Given the description of an element on the screen output the (x, y) to click on. 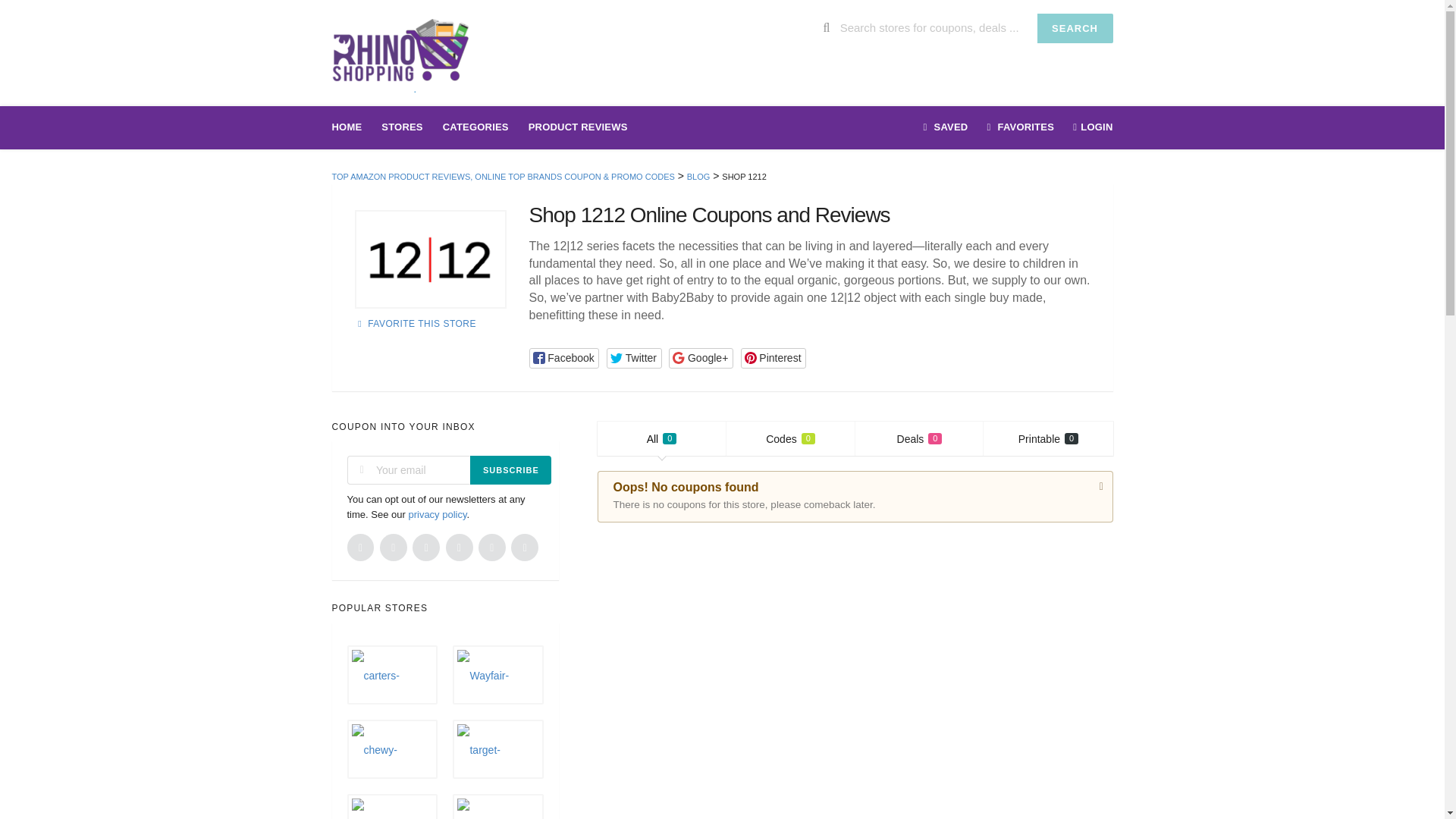
SAVED (946, 127)
LOGIN (661, 438)
SEARCH (1087, 127)
Share image on Pinterest (1074, 28)
Shop Shop 1212 (772, 358)
privacy policy (430, 258)
STORES (436, 514)
HOME (920, 438)
PRODUCT REVIEWS (401, 127)
BLOG (351, 127)
CATEGORIES (577, 127)
Go to Blog. (698, 175)
